Given the description of an element on the screen output the (x, y) to click on. 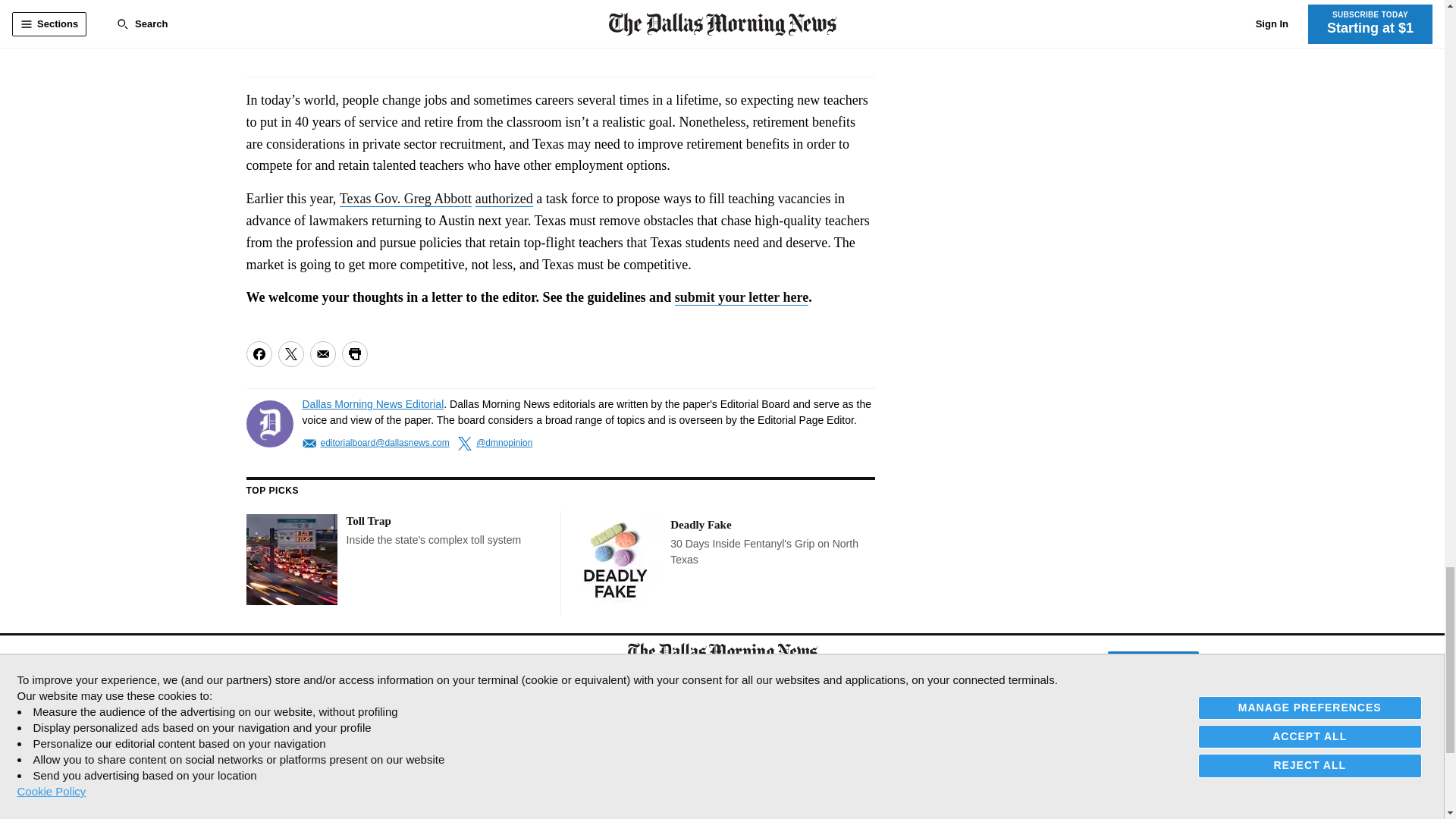
Print (353, 353)
The Dallas Morning News on Facebook (259, 662)
Share via Email (321, 353)
The Dallas Morning News on YouTube (365, 662)
Share on Twitter (290, 353)
The Dallas Morning News on Instagram (332, 662)
Share on Facebook (258, 353)
The Dallas Morning News on Twitter (293, 662)
